Given the description of an element on the screen output the (x, y) to click on. 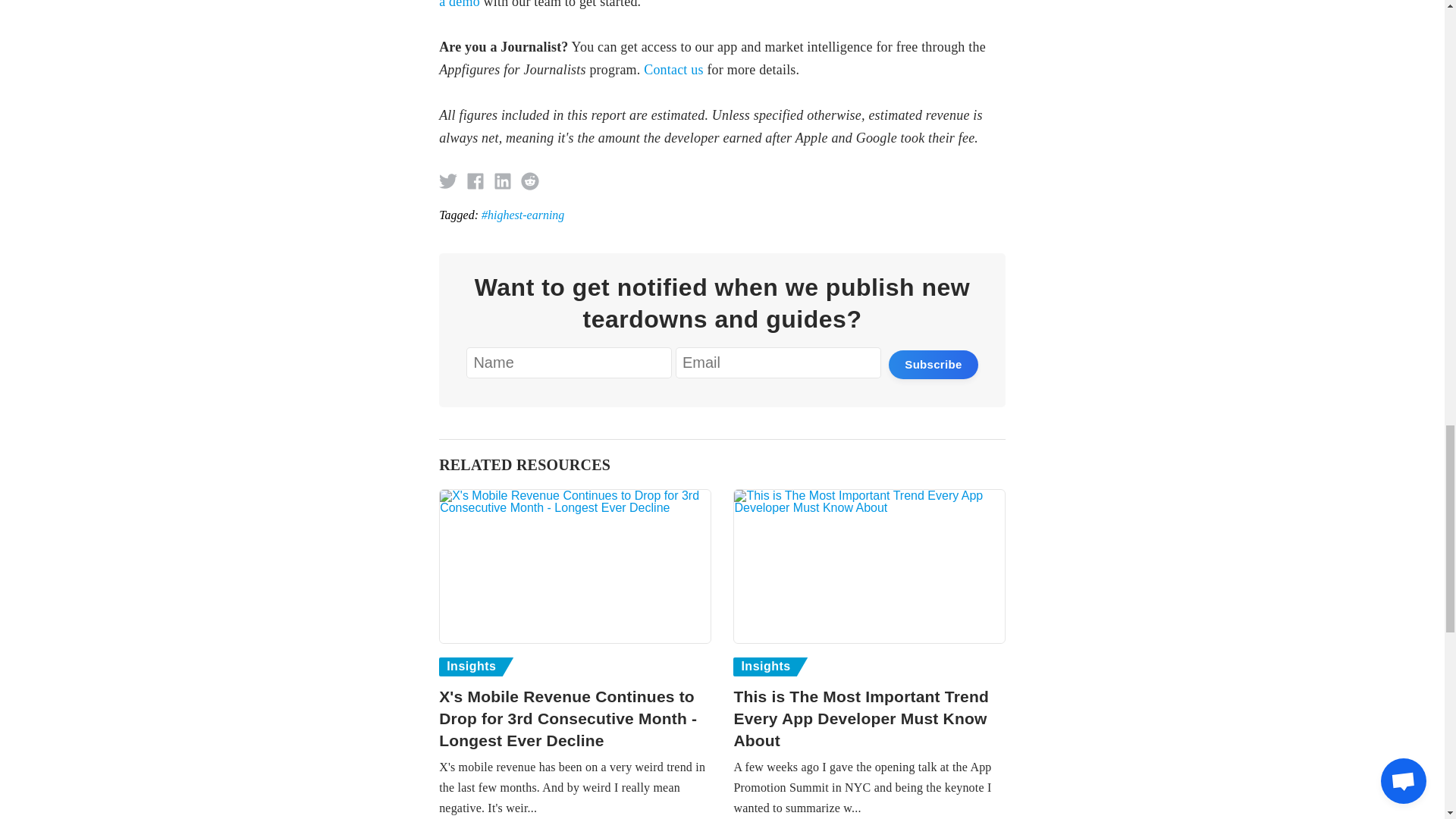
Share this article on Twitter (448, 180)
Share this article on Reddit (529, 180)
Share this article on Facebook (474, 180)
Share this article on LinkedIn (502, 180)
